Given the description of an element on the screen output the (x, y) to click on. 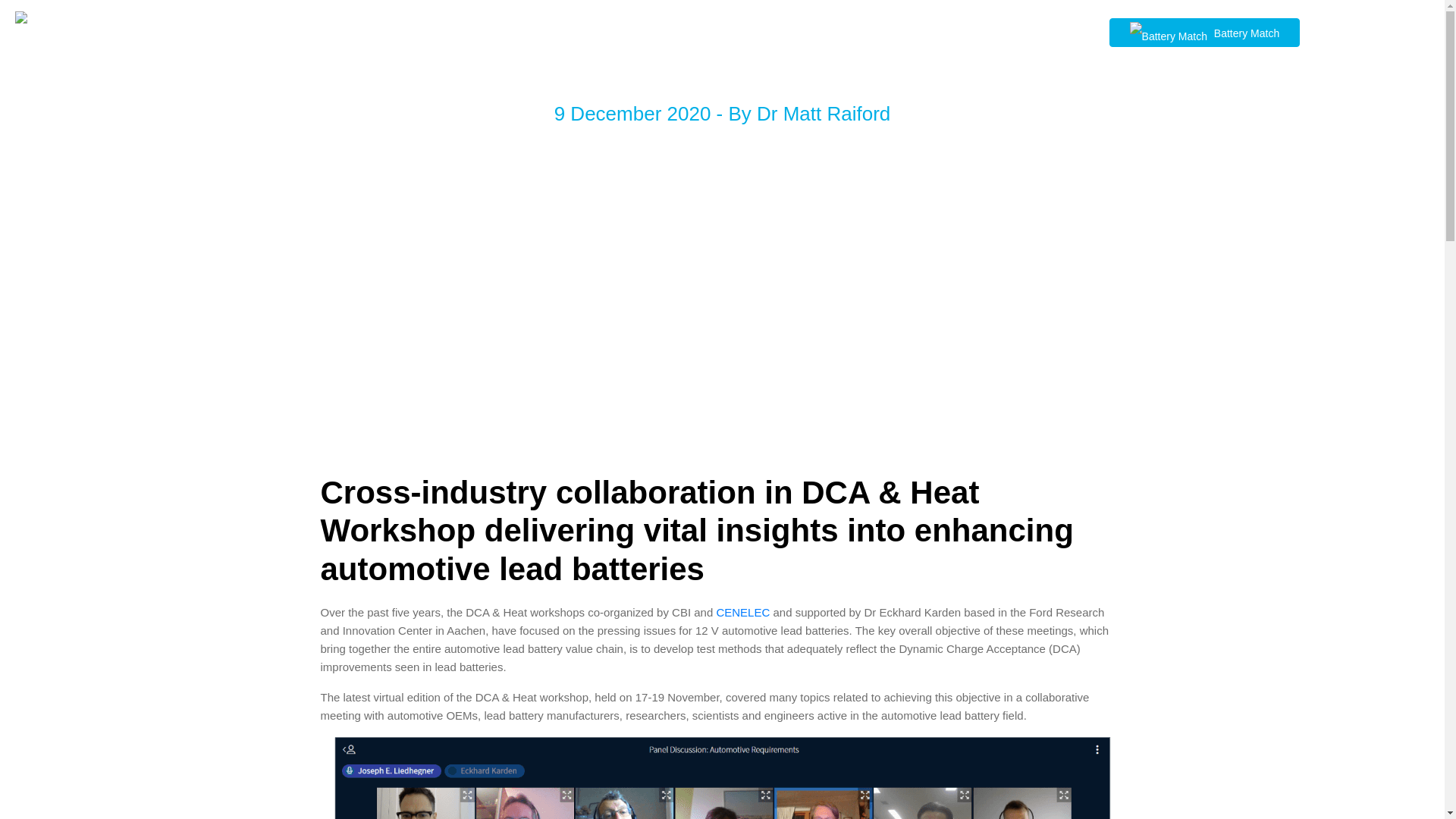
CENELEC (743, 612)
Sign in (1343, 32)
About us (505, 31)
Market data (729, 31)
Innovation (654, 31)
Applications (579, 31)
Battery Match (1204, 32)
